Given the description of an element on the screen output the (x, y) to click on. 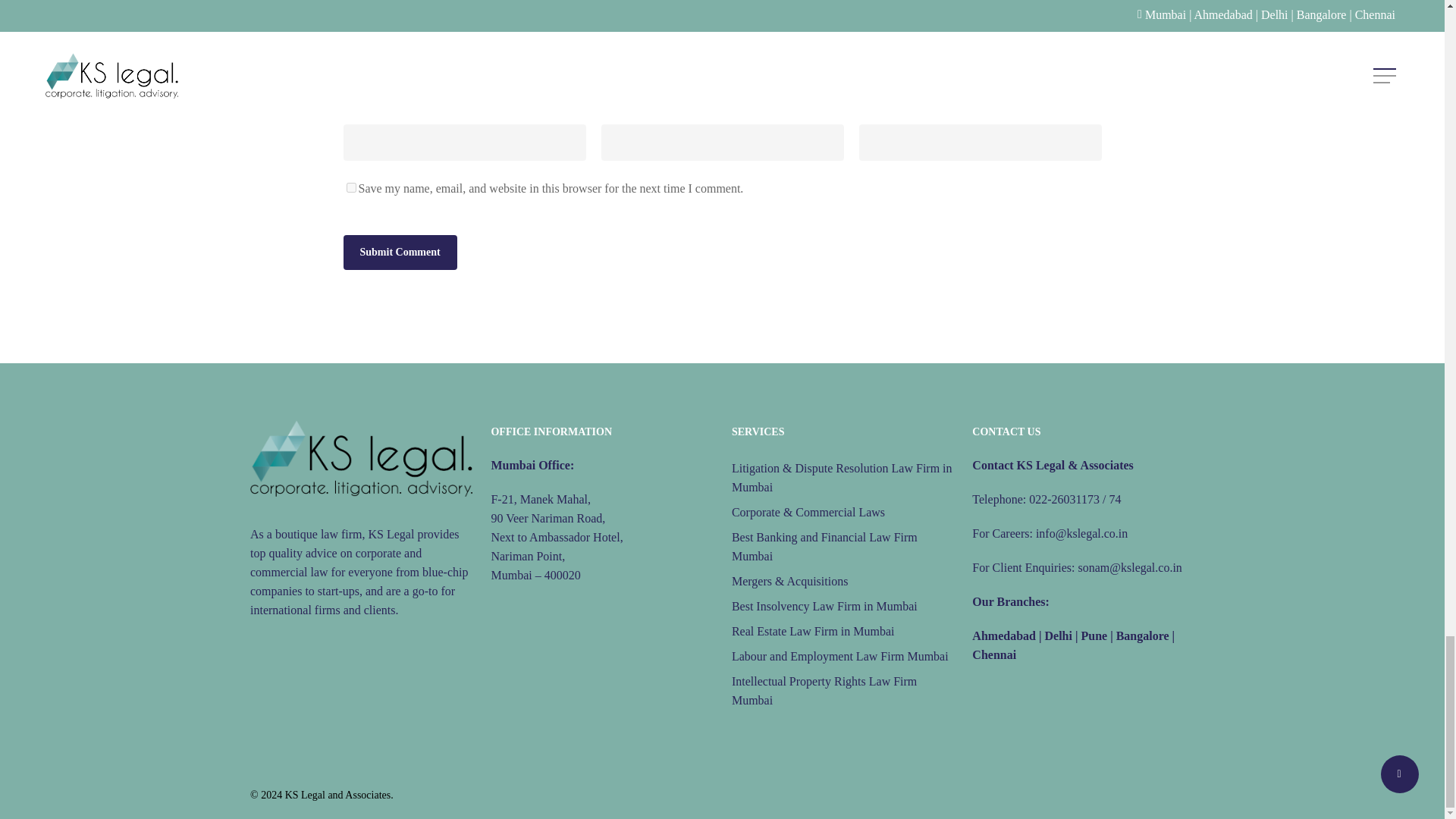
Submit Comment (399, 252)
Submit Comment (399, 252)
yes (350, 187)
